Given the description of an element on the screen output the (x, y) to click on. 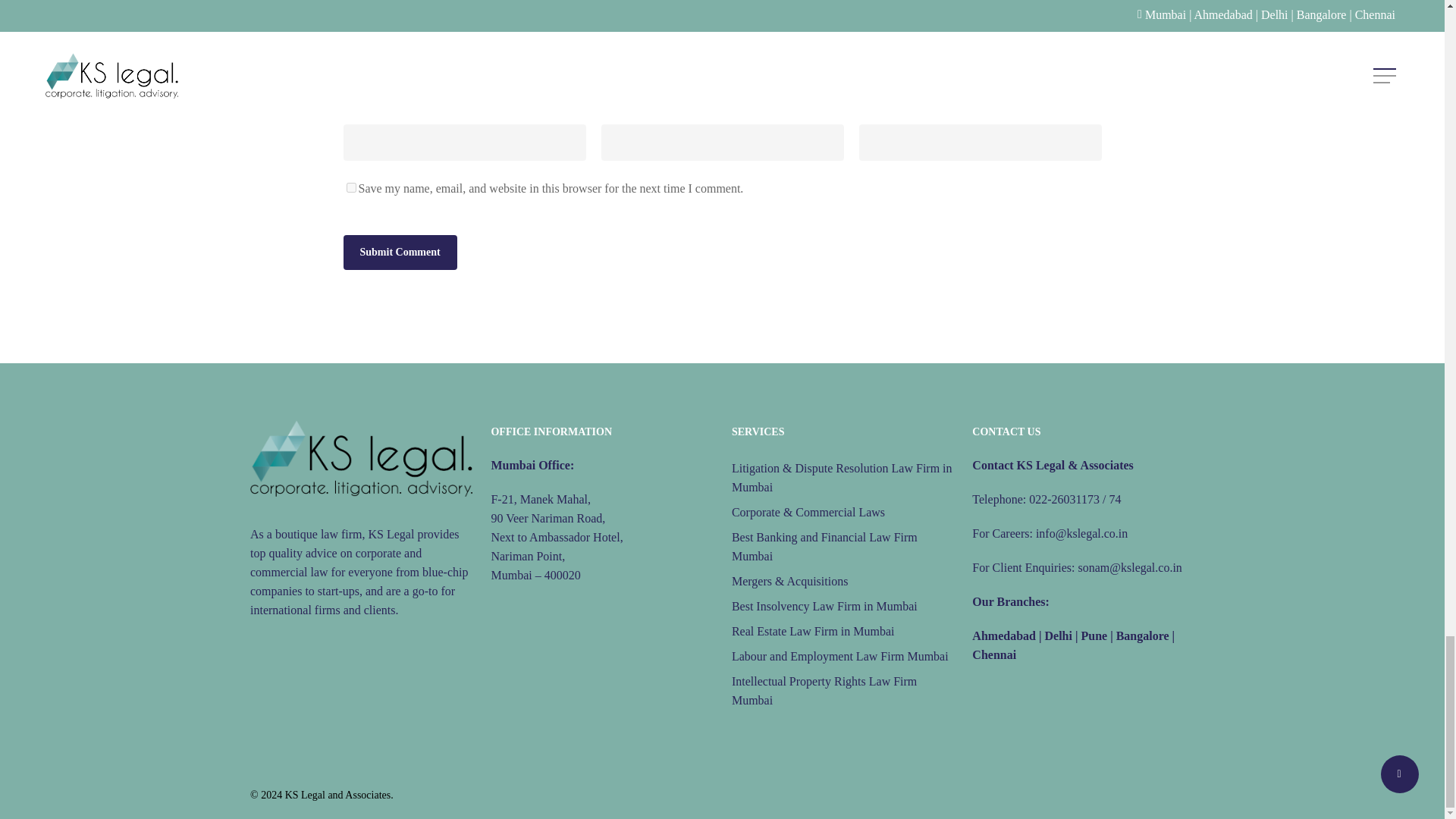
Submit Comment (399, 252)
Submit Comment (399, 252)
yes (350, 187)
